Given the description of an element on the screen output the (x, y) to click on. 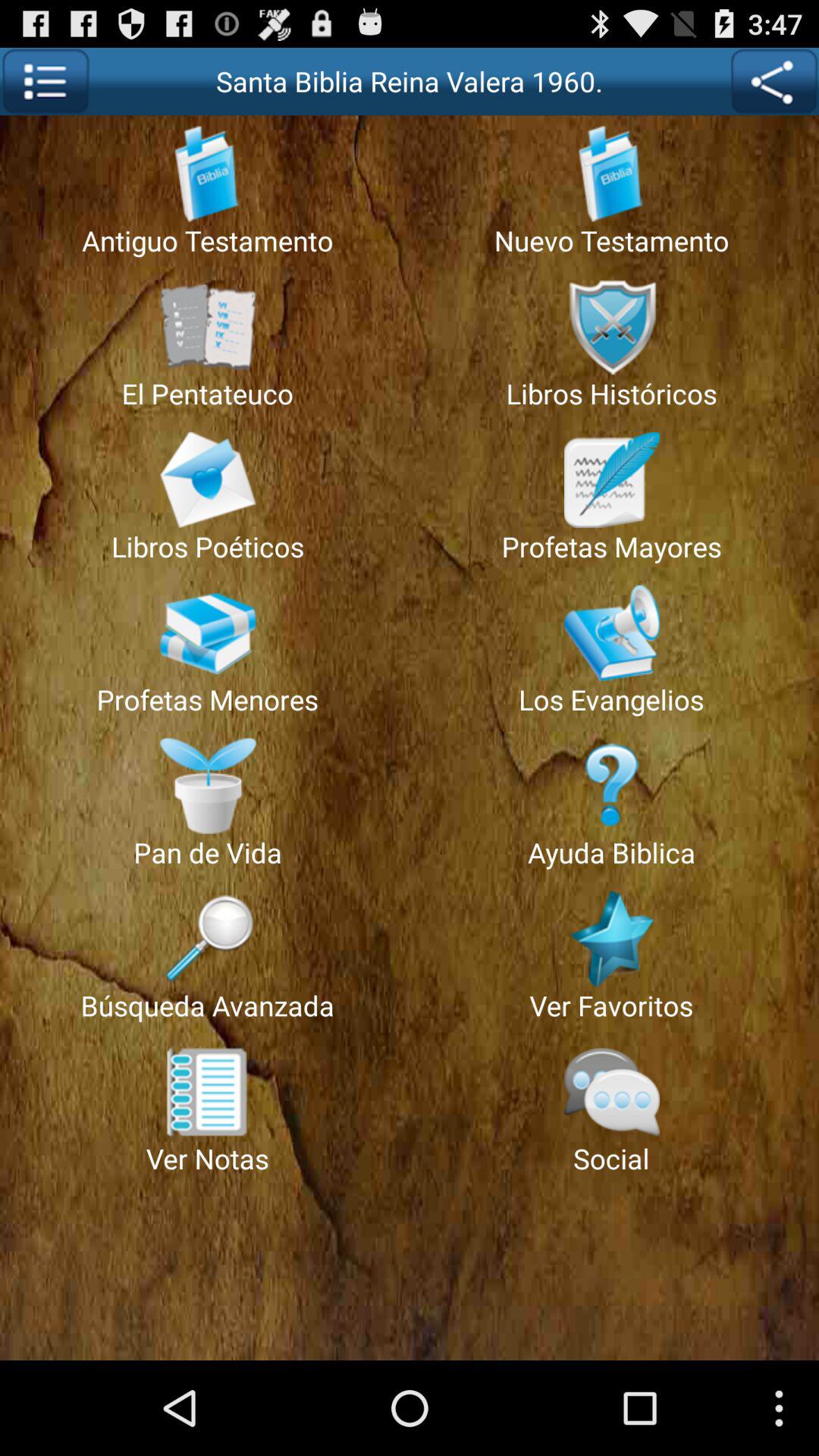
more options (45, 81)
